Given the description of an element on the screen output the (x, y) to click on. 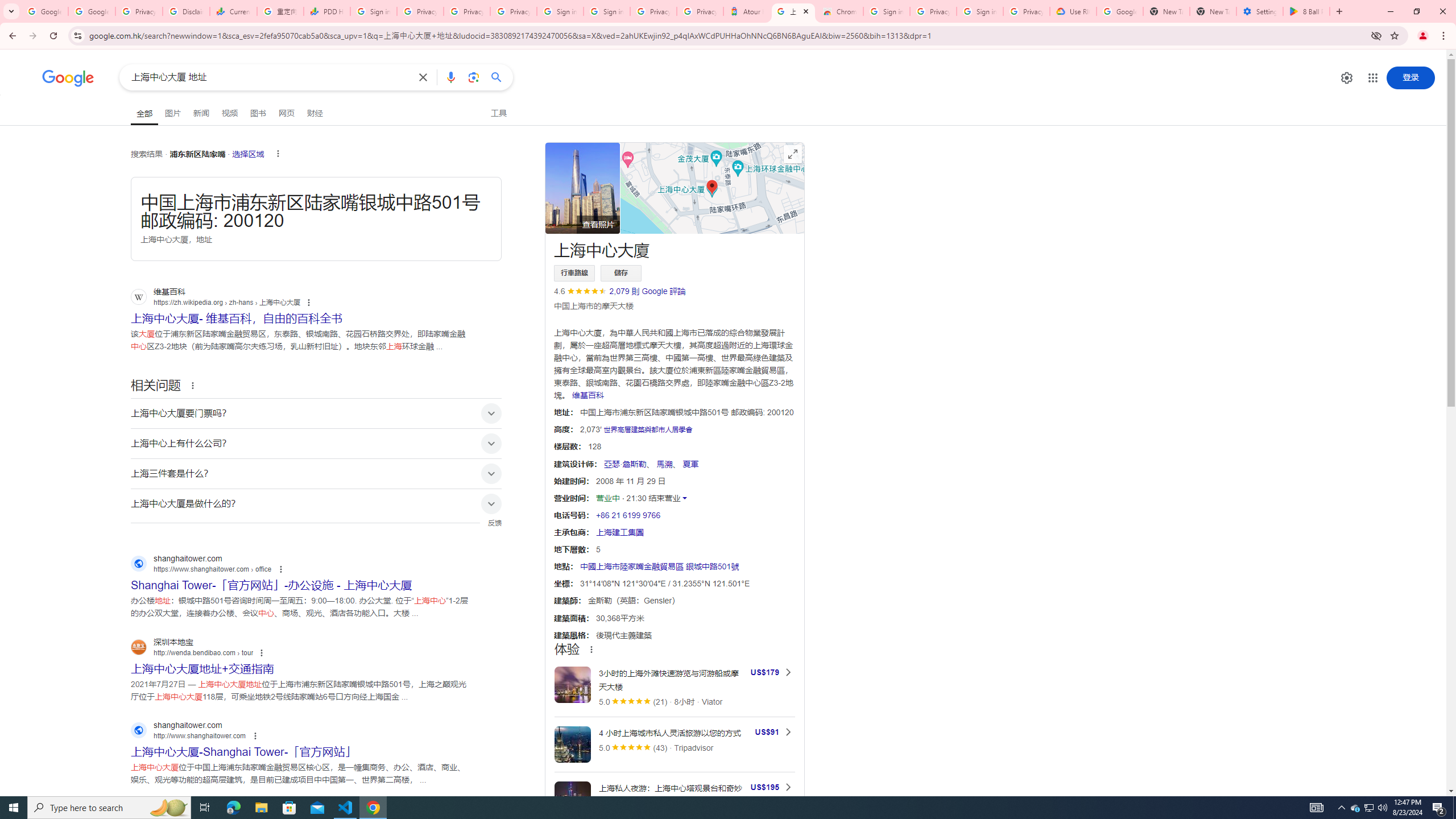
PDD Holdings Inc - ADR (PDD) Price & News - Google Finance (326, 11)
Sign in - Google Accounts (886, 11)
